Given the description of an element on the screen output the (x, y) to click on. 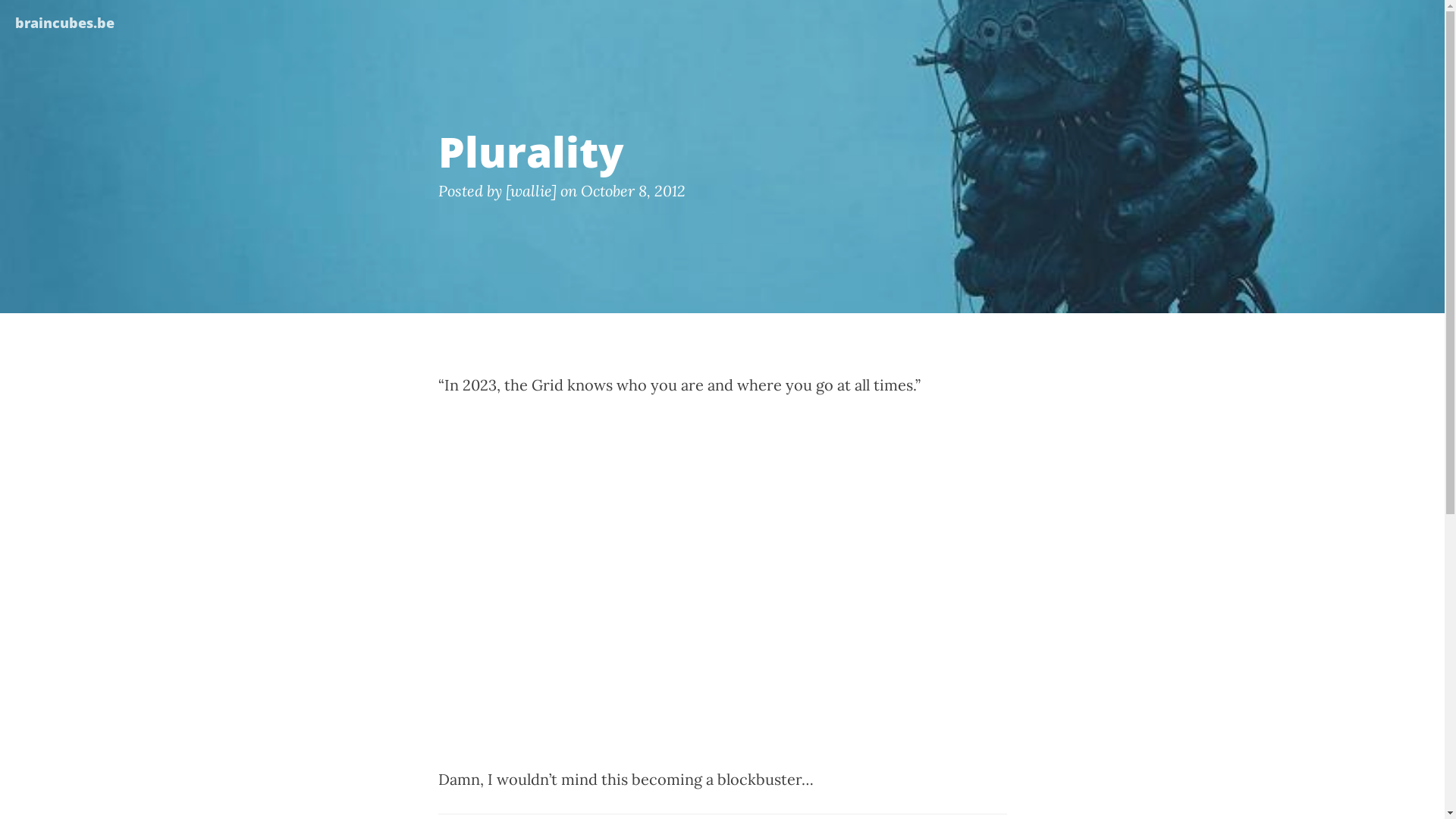
braincubes.be Element type: text (64, 18)
[wallie] Element type: text (530, 189)
